Given the description of an element on the screen output the (x, y) to click on. 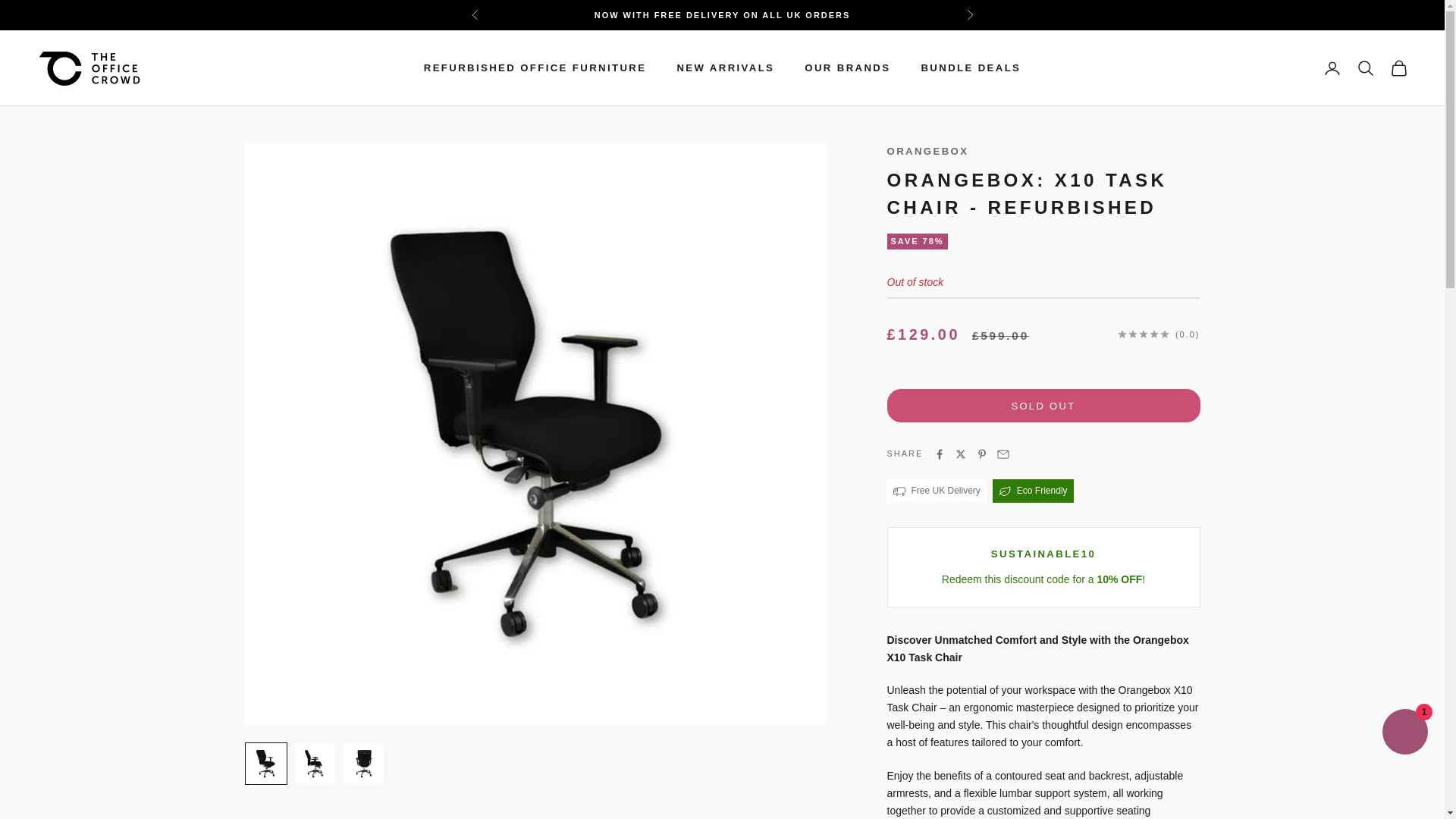
OUR BRANDS (847, 67)
Previous (474, 15)
Open account page (1331, 67)
The Office Crowd (89, 67)
Open search (1365, 67)
No reviews (1158, 334)
Shopify online store chat (1404, 733)
Open cart (1398, 67)
BUNDLE DEALS (970, 67)
Next (968, 15)
NEW ARRIVALS (725, 67)
